Given the description of an element on the screen output the (x, y) to click on. 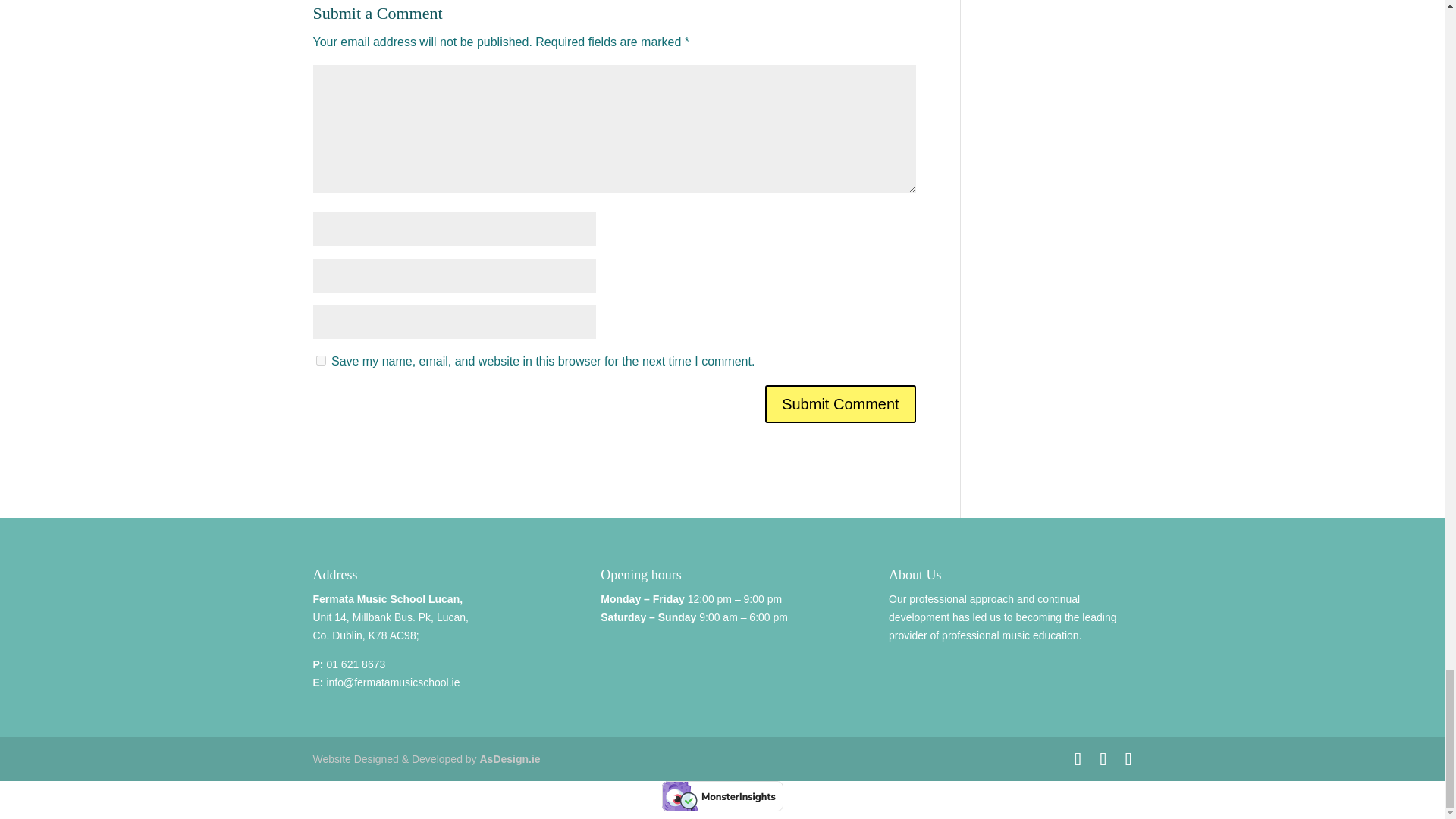
Verified by MonsterInsights (722, 796)
yes (319, 360)
Submit Comment (840, 403)
